Given the description of an element on the screen output the (x, y) to click on. 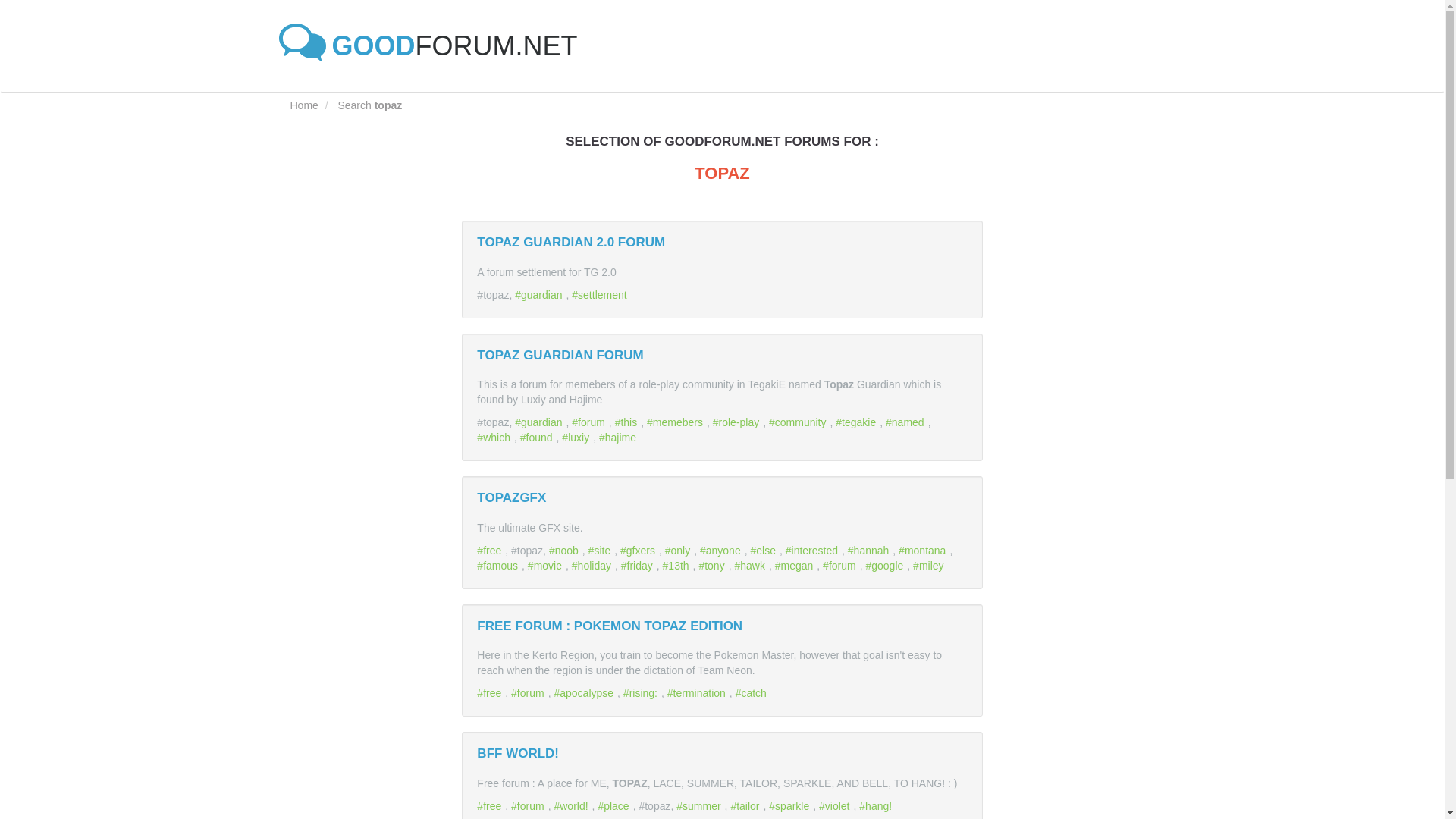
hajime (619, 437)
found (537, 437)
only (679, 550)
forum (841, 565)
guardian (540, 295)
luxiy (577, 437)
gfxers (639, 550)
which (495, 437)
montana (923, 550)
community (798, 422)
friday (638, 565)
hajime (619, 437)
hannah (870, 550)
role-play (737, 422)
free (491, 550)
